Given the description of an element on the screen output the (x, y) to click on. 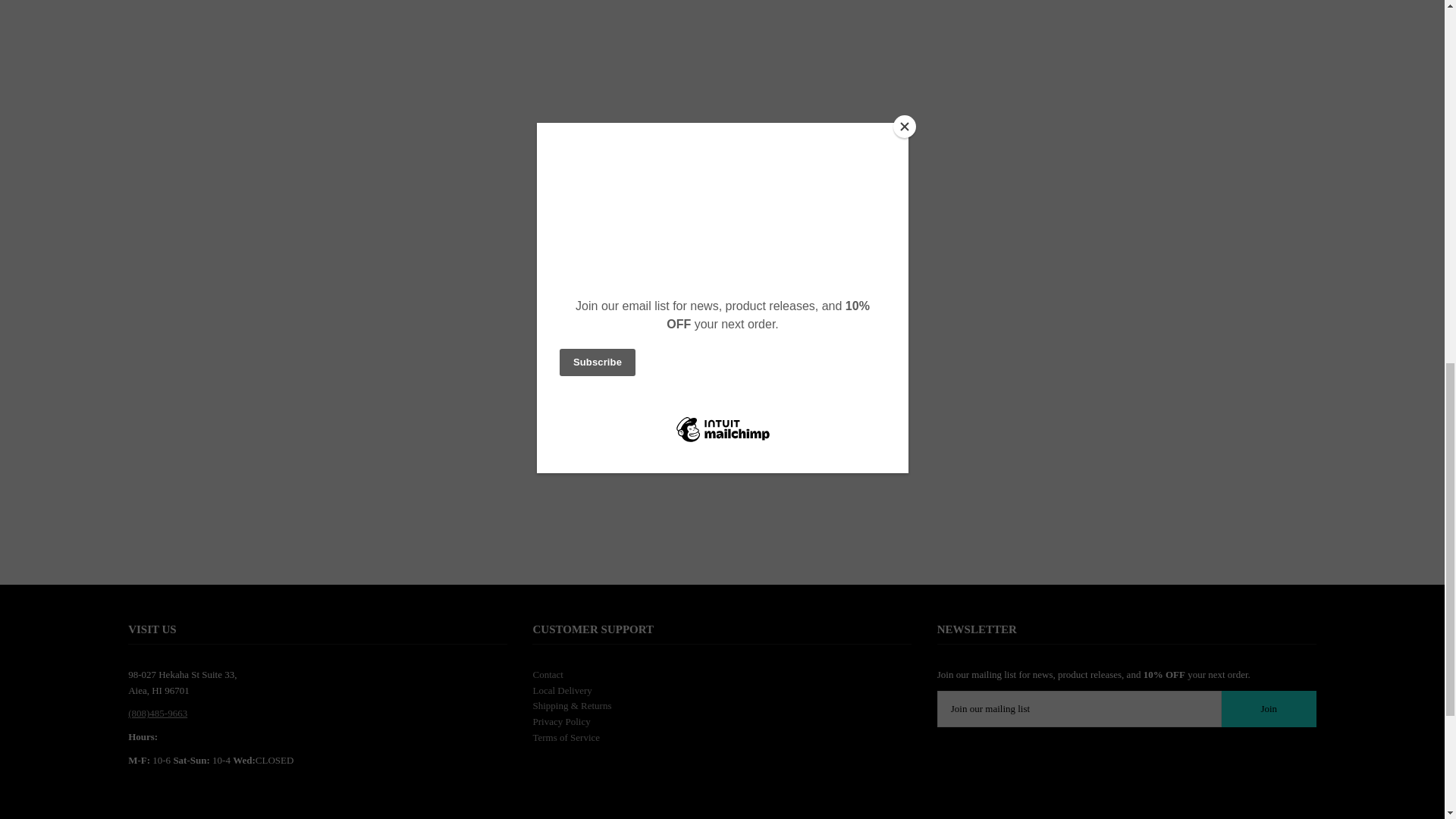
Local Delivery (561, 690)
Terms of Service (565, 737)
Join (1268, 709)
Privacy Policy (560, 721)
Join (1268, 709)
Contact (547, 674)
